Given the description of an element on the screen output the (x, y) to click on. 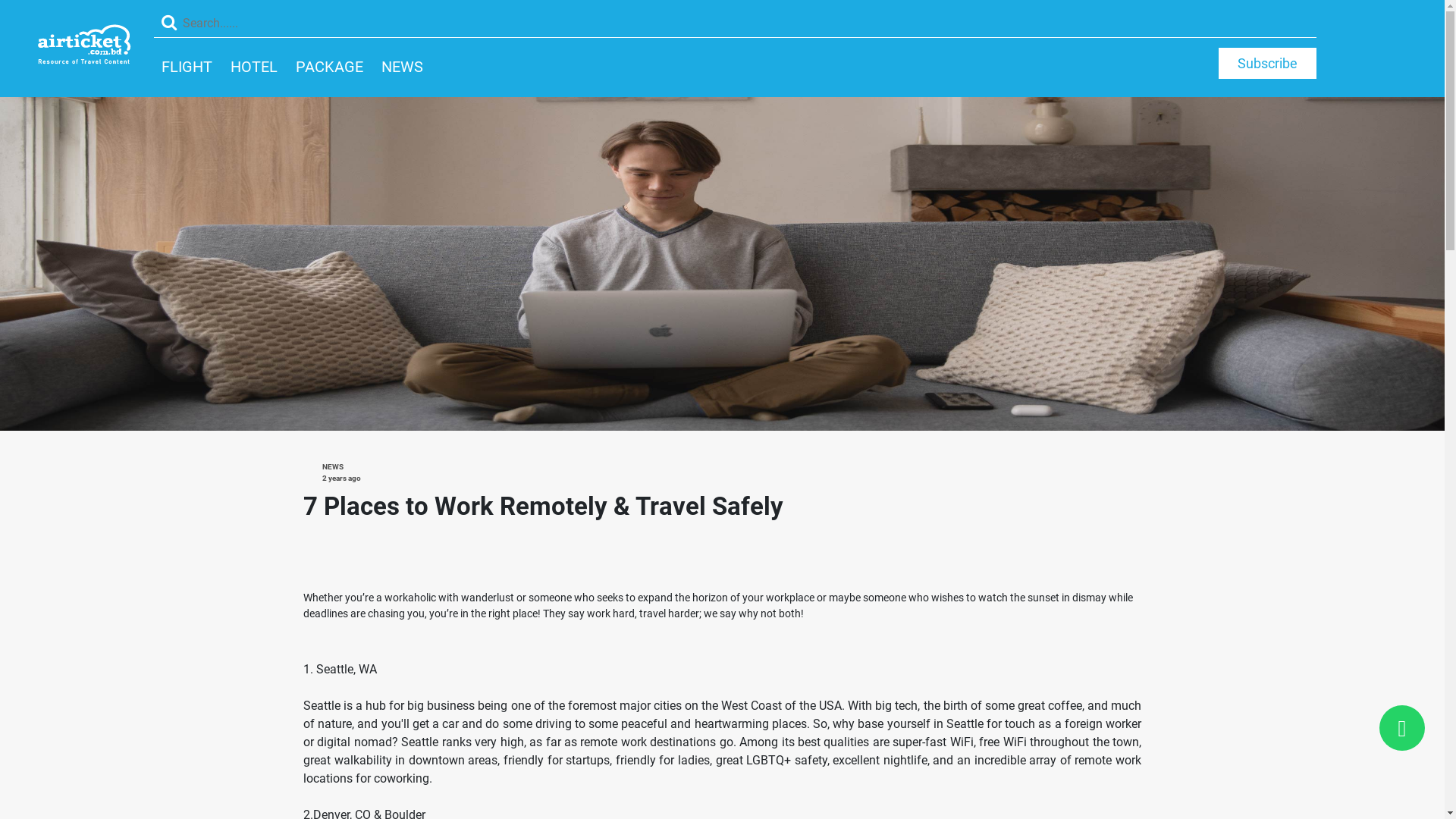
FLIGHT Element type: text (186, 66)
HOTEL Element type: text (253, 66)
Subscribe Element type: text (1267, 62)
NEWS Element type: text (401, 66)
PACKAGE Element type: text (329, 66)
